Given the description of an element on the screen output the (x, y) to click on. 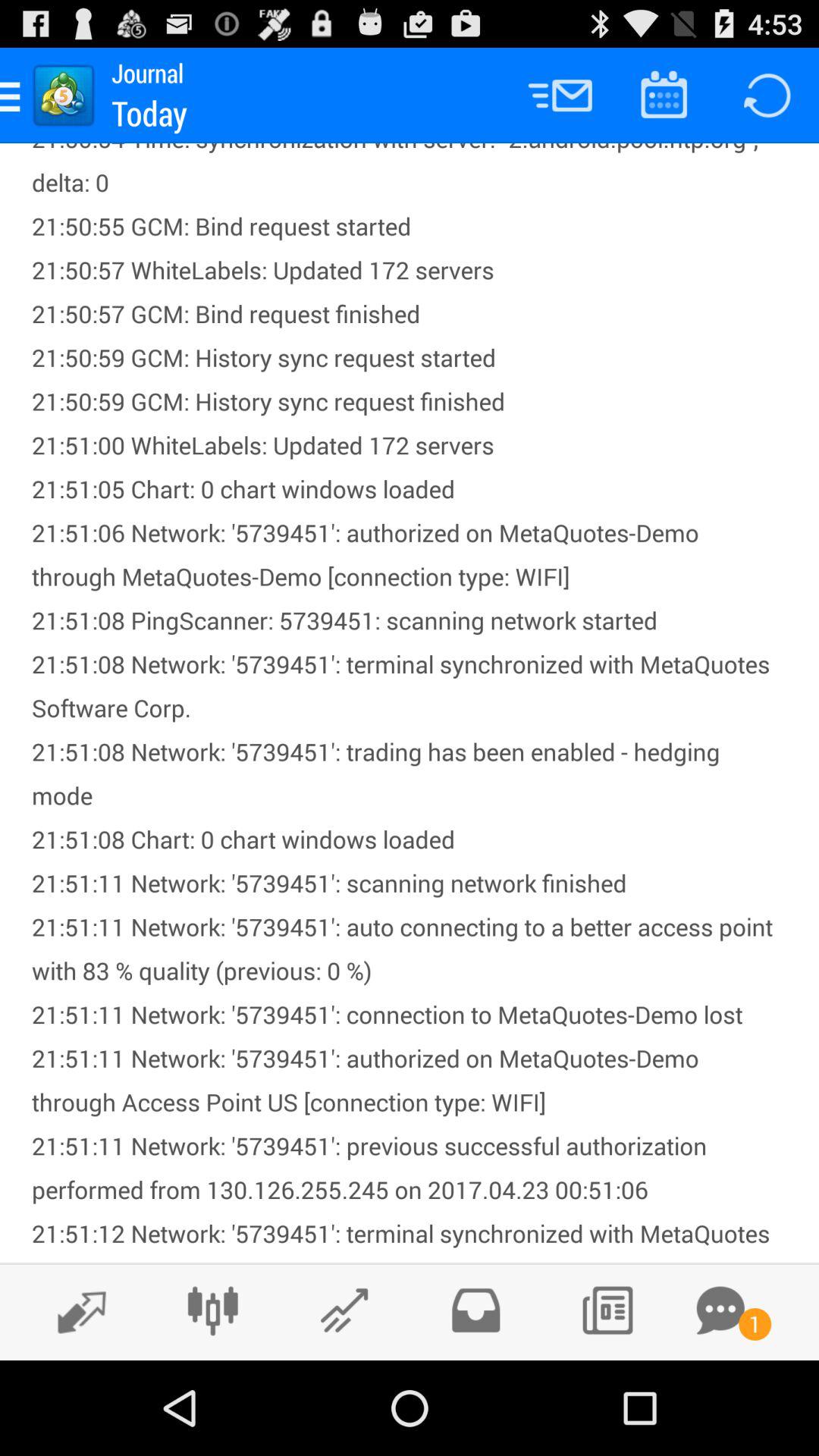
open chat (720, 1310)
